Given the description of an element on the screen output the (x, y) to click on. 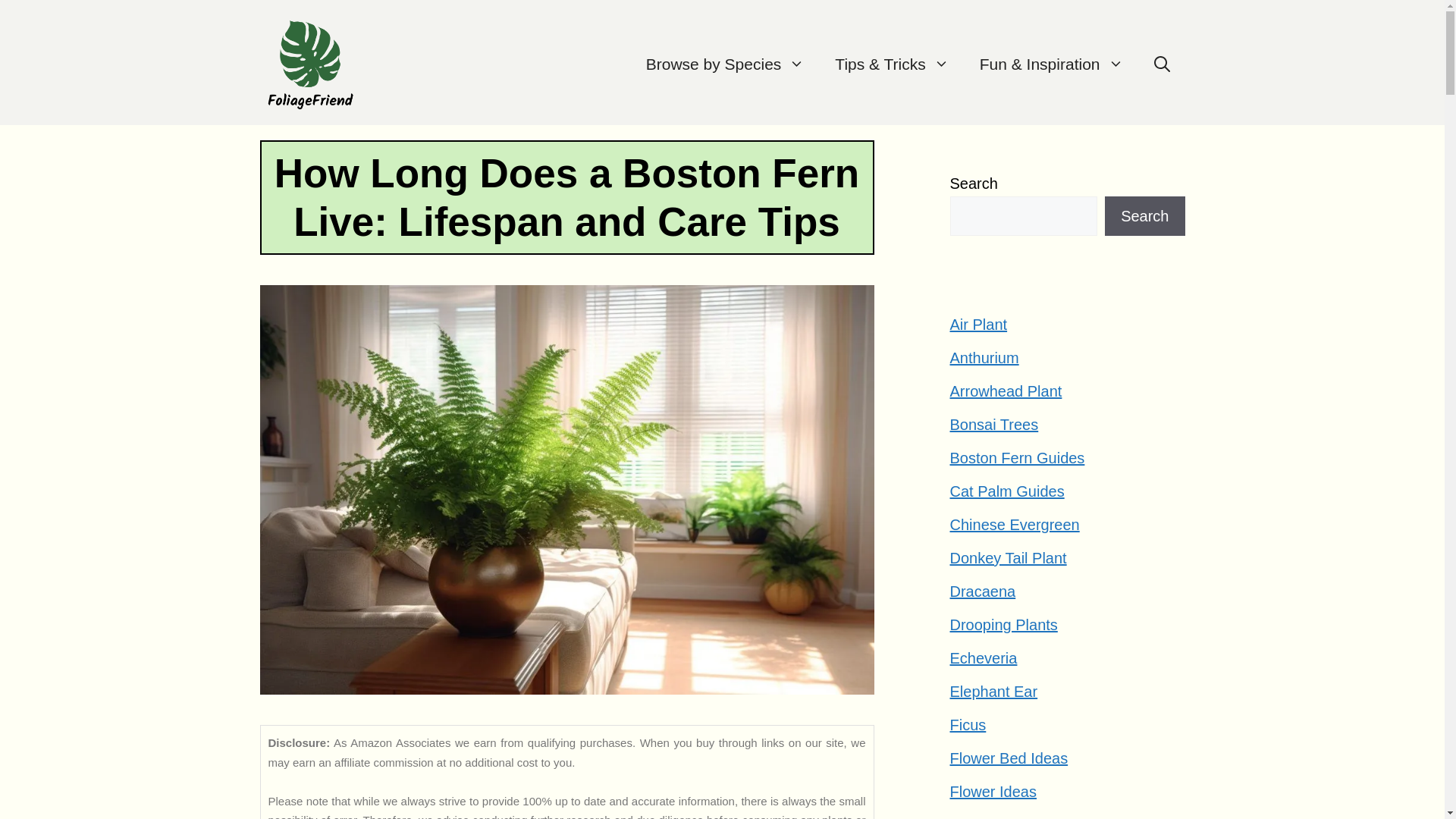
Browse by Species (725, 63)
